Given the description of an element on the screen output the (x, y) to click on. 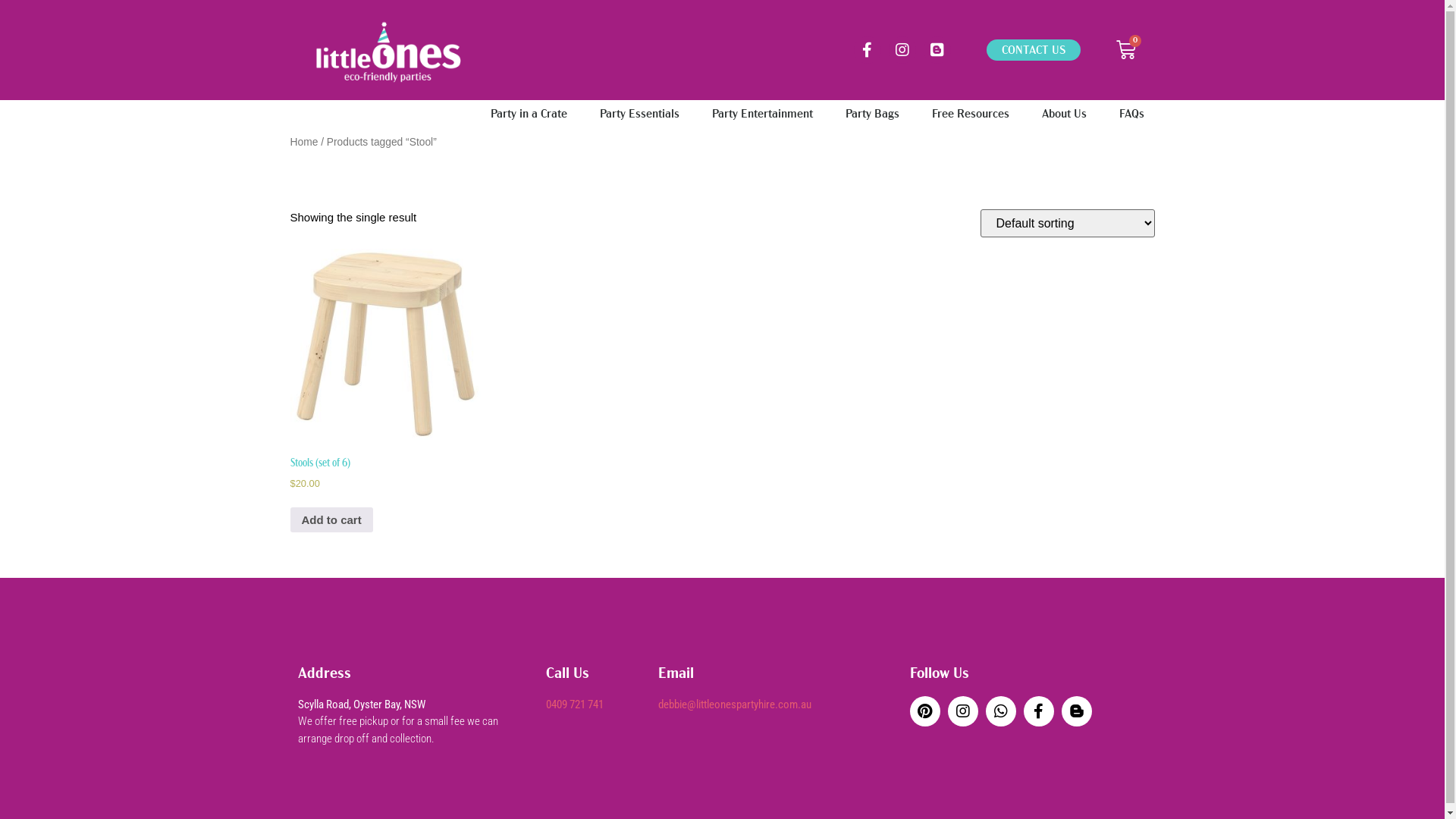
CONTACT US Element type: text (1033, 49)
0 Element type: text (1126, 49)
Party Entertainment Element type: text (761, 113)
Party Essentials Element type: text (638, 113)
About Us Element type: text (1064, 113)
0409 721 741 Element type: text (574, 704)
FAQs Element type: text (1131, 113)
Stools (set of 6)
$20.00 Element type: text (384, 386)
Party Bags Element type: text (871, 113)
Home Element type: text (303, 141)
Party in a Crate Element type: text (528, 113)
Free Resources Element type: text (969, 113)
Add to cart Element type: text (330, 520)
debbie@littleonespartyhire.com.au Element type: text (734, 704)
